Given the description of an element on the screen output the (x, y) to click on. 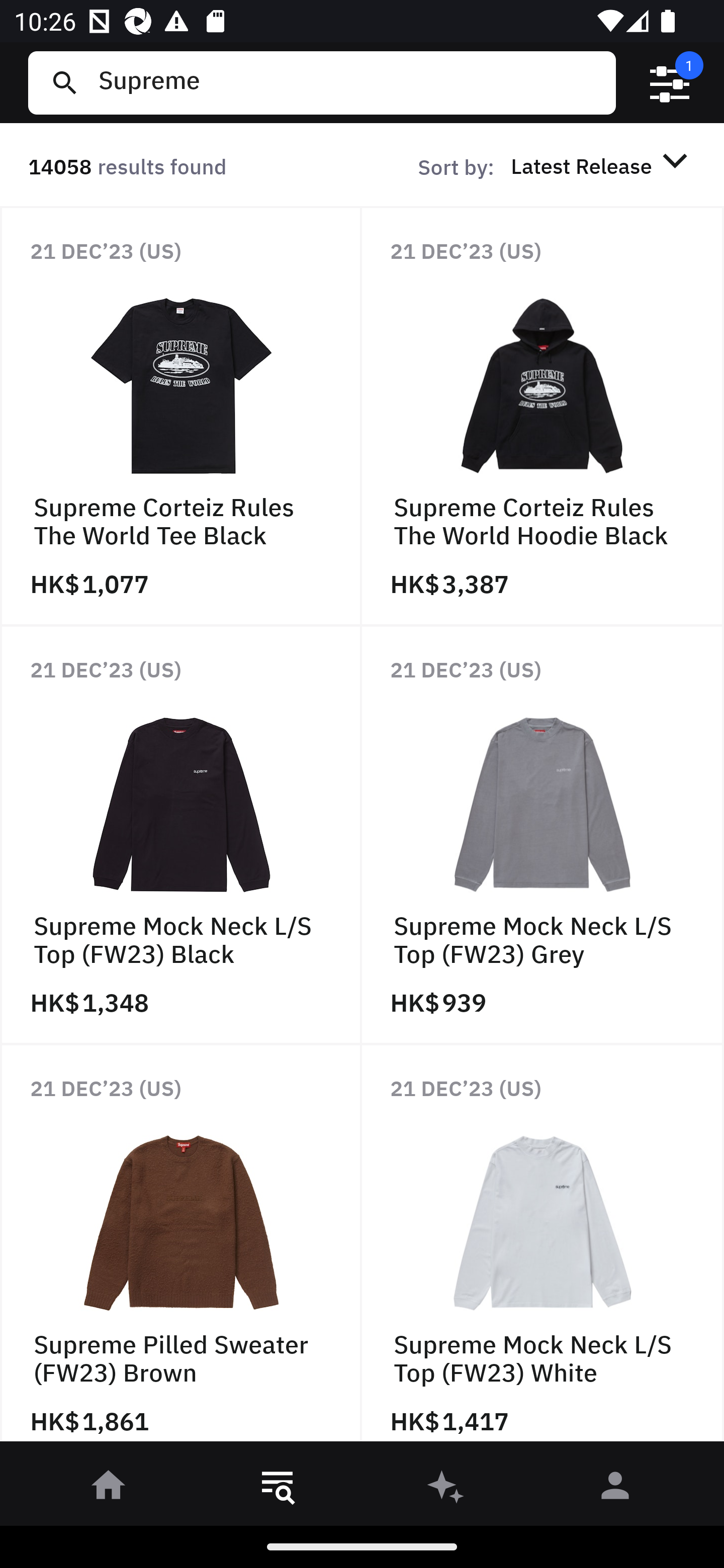
Supreme (349, 82)
 (669, 82)
Latest Release  (602, 165)
󰋜 (108, 1488)
󱎸 (277, 1488)
󰫢 (446, 1488)
󰀄 (615, 1488)
